Given the description of an element on the screen output the (x, y) to click on. 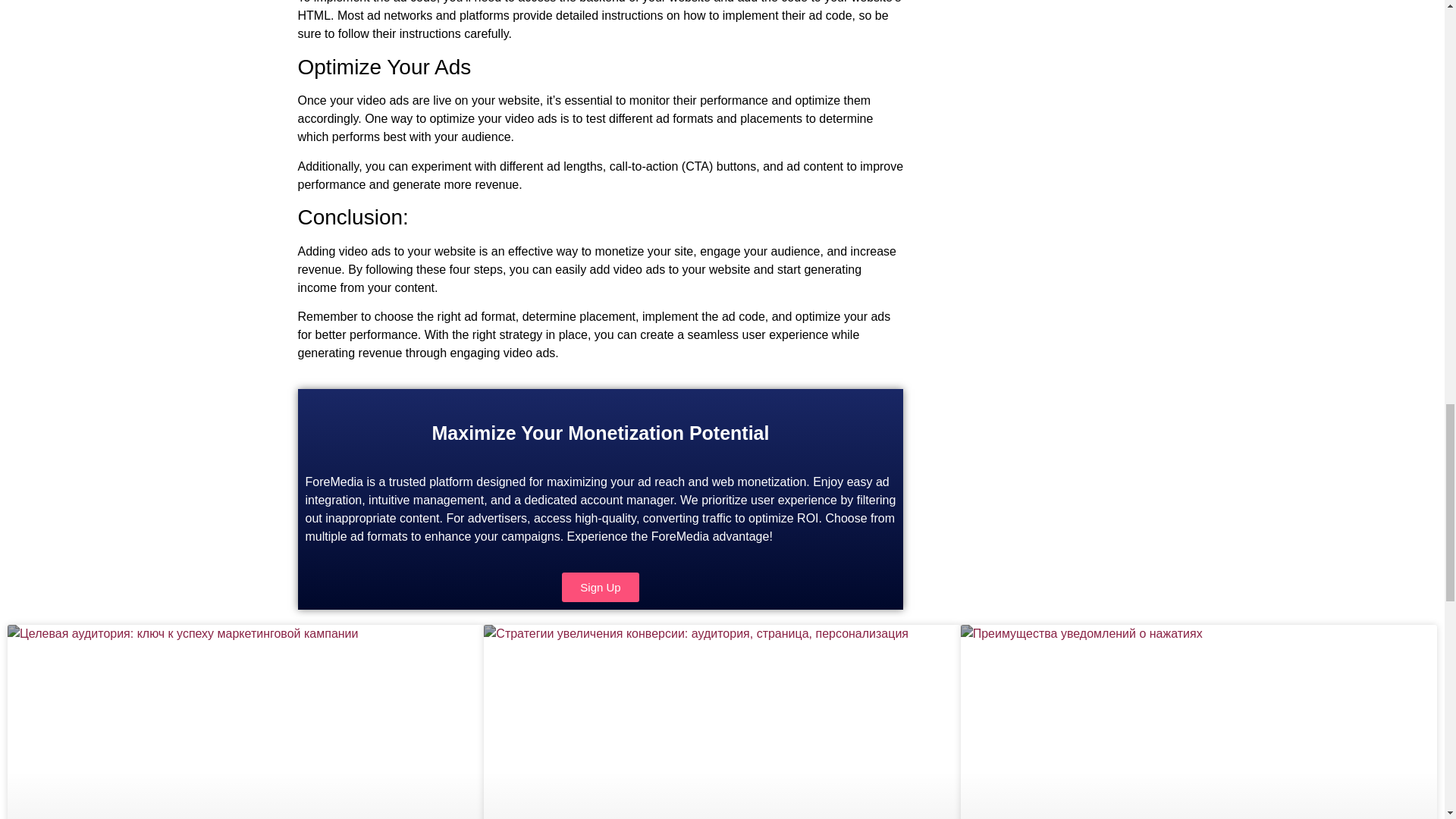
Sign Up (600, 586)
